Given the description of an element on the screen output the (x, y) to click on. 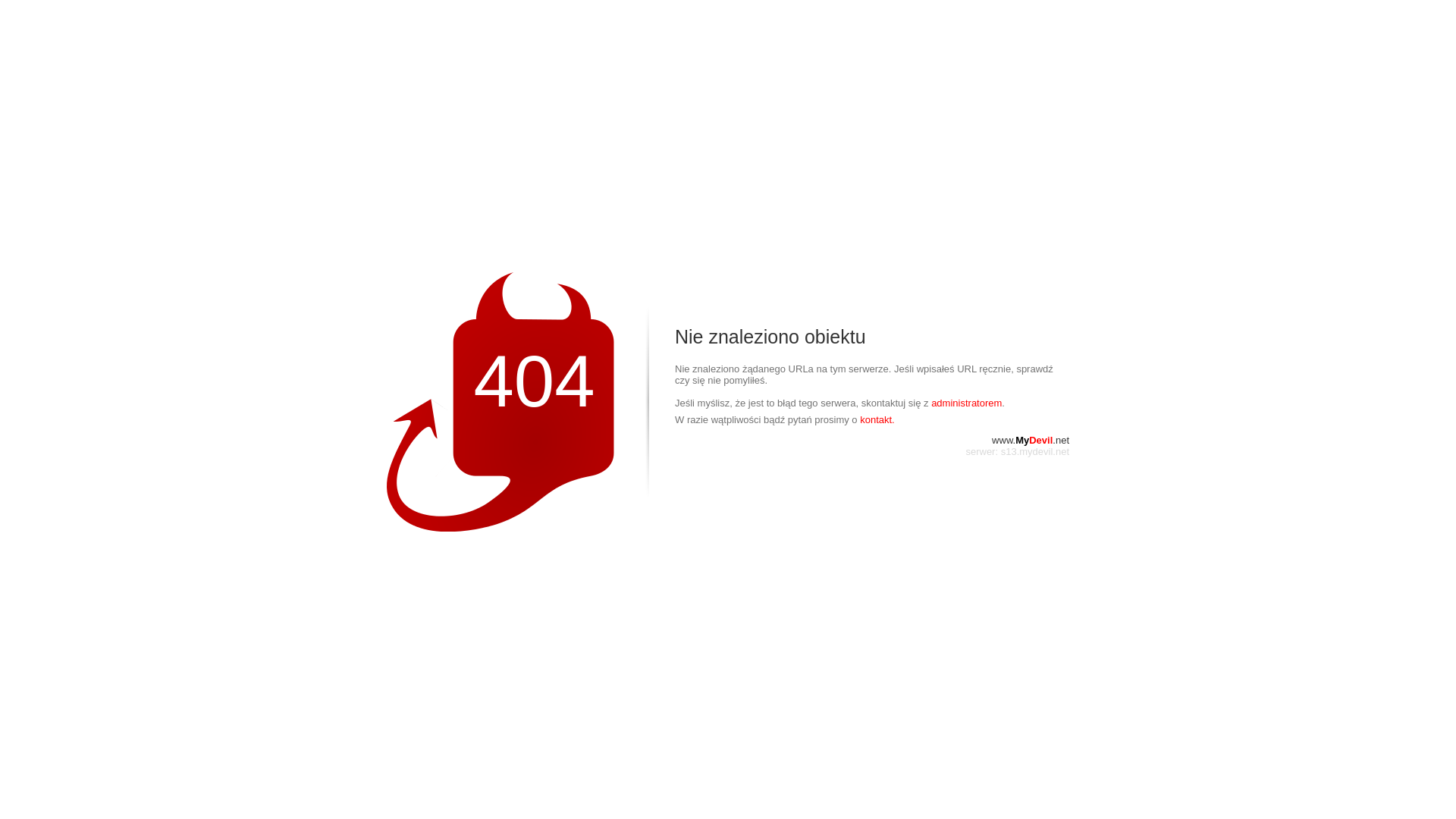
kontakt. Element type: text (876, 419)
administratorem Element type: text (966, 402)
www.MyDevil.net Element type: text (1030, 439)
